Given the description of an element on the screen output the (x, y) to click on. 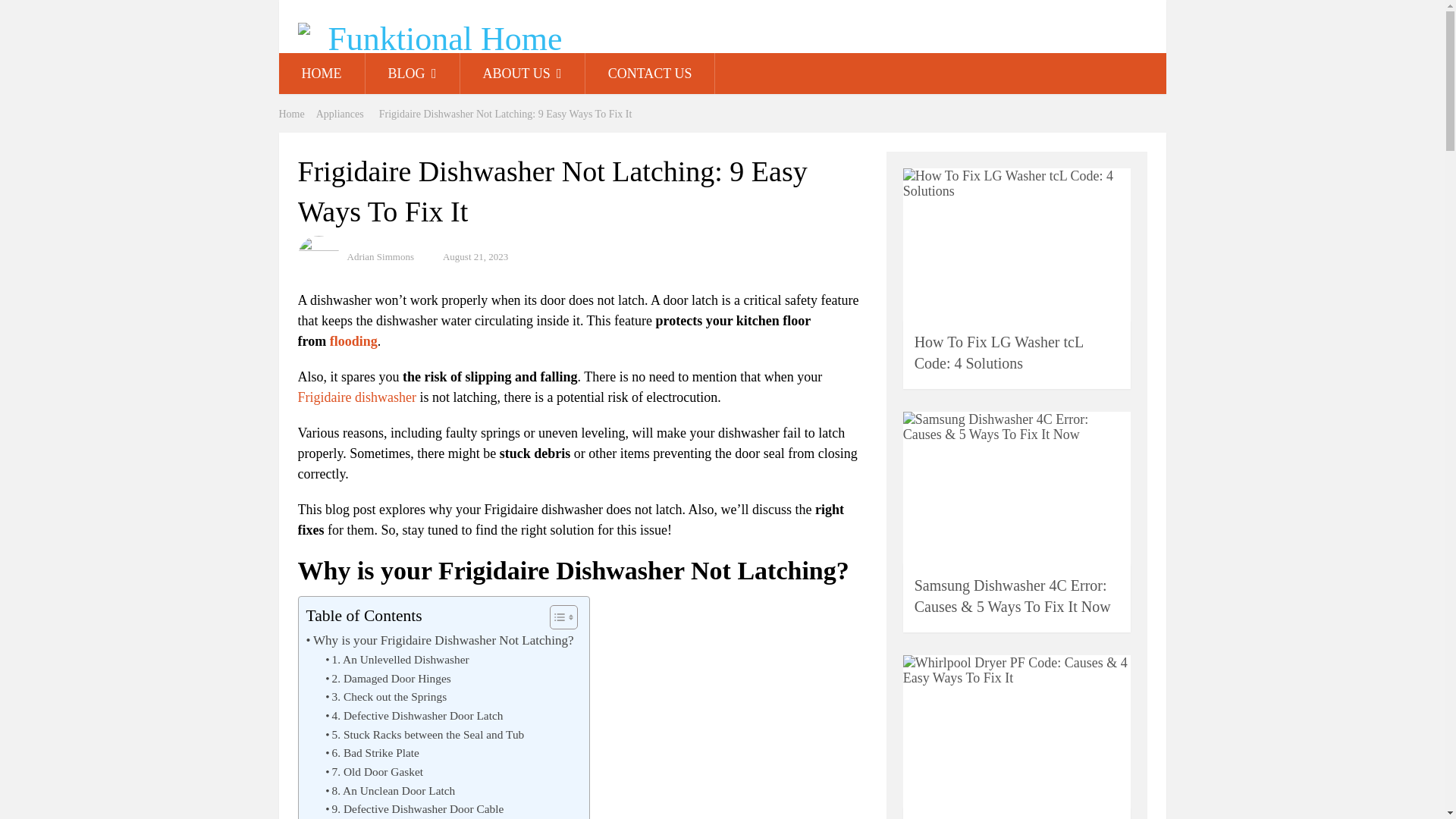
Appliances (339, 113)
4. Defective Dishwasher Door Latch (413, 715)
Frigidaire dishwasher (355, 396)
HOME (322, 73)
9. Defective Dishwasher Door Cable (413, 809)
4. Defective Dishwasher Door Latch (413, 715)
Why is your Frigidaire Dishwasher Not Latching? (439, 639)
BLOG (412, 73)
